Given the description of an element on the screen output the (x, y) to click on. 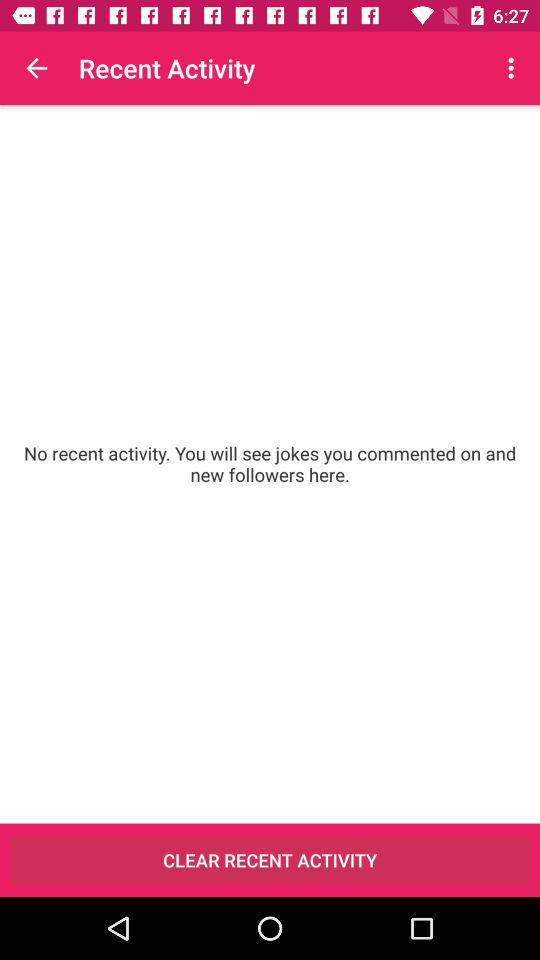
tap icon at the top right corner (513, 67)
